Given the description of an element on the screen output the (x, y) to click on. 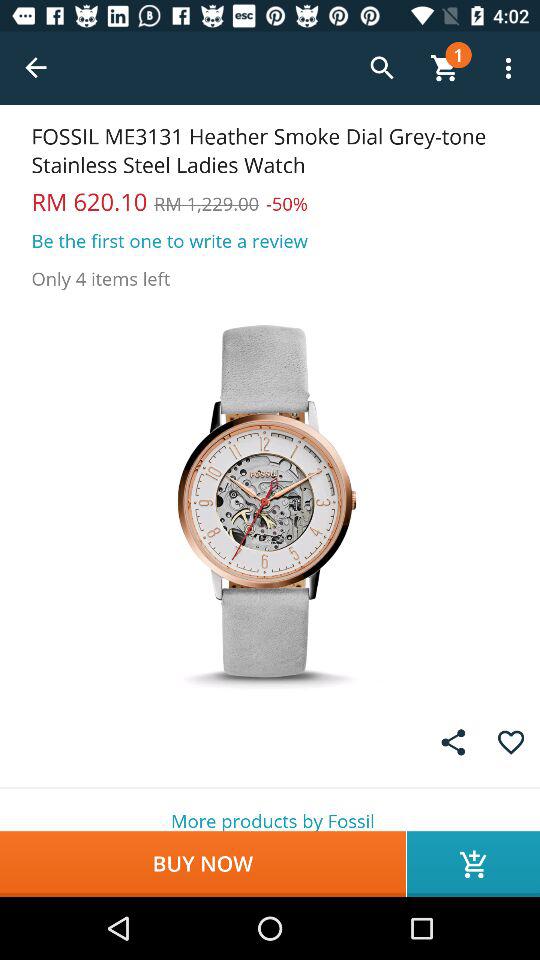
show the full image (269, 500)
